Given the description of an element on the screen output the (x, y) to click on. 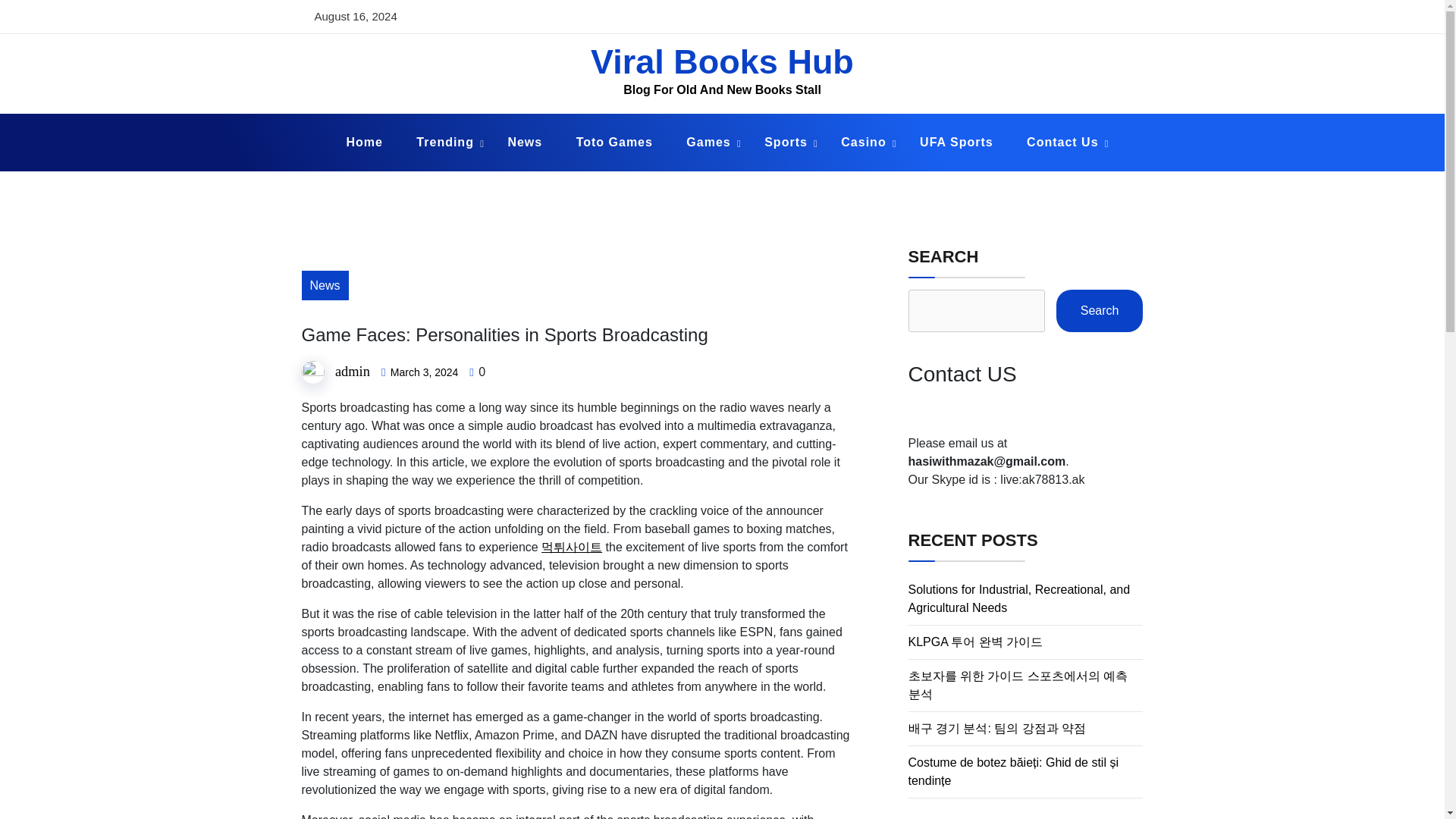
Toto Games (614, 142)
Home (363, 142)
March 3, 2024 (424, 372)
Contact Us (1062, 142)
Casino (863, 142)
Sports (785, 142)
Viral Books Hub (722, 61)
News (325, 285)
Games (708, 142)
admin (351, 371)
